Given the description of an element on the screen output the (x, y) to click on. 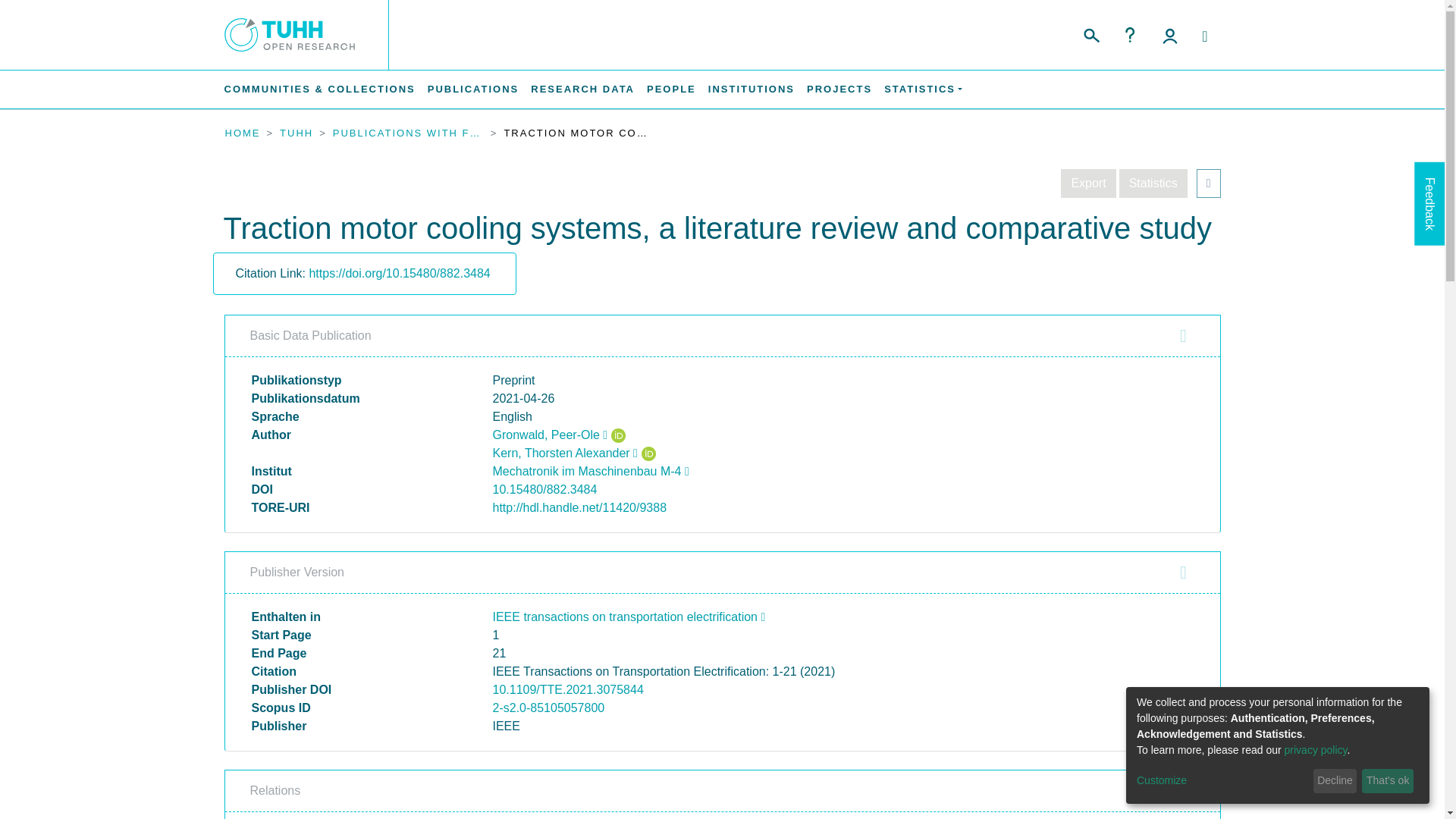
Institutions (750, 89)
Search (1090, 33)
Statistics (1153, 183)
Help (1129, 34)
Projects (838, 89)
2-s2.0-85105057800 (549, 707)
Kern, Thorsten Alexander  (565, 452)
PEOPLE (670, 89)
Close section (1183, 335)
Relations (722, 790)
STATISTICS (922, 89)
TUHH (296, 133)
Export (1088, 183)
Mechatronik im Maschinenbau M-4  (590, 471)
Language switch (1204, 36)
